Given the description of an element on the screen output the (x, y) to click on. 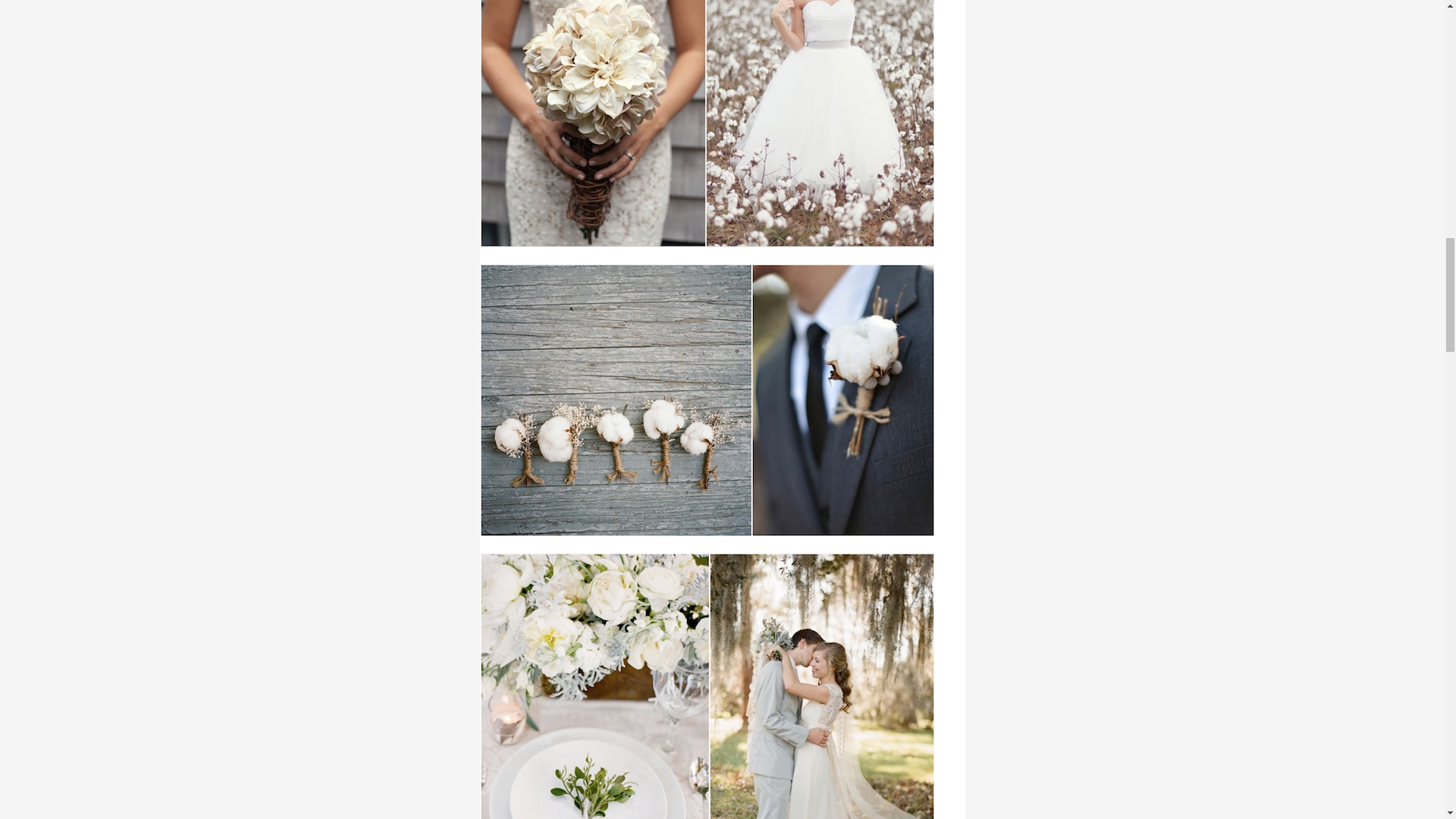
Cotton Wedding Inspiration (707, 685)
Cotton Wedding Inspiration (707, 124)
Blog pics138 (707, 400)
